Given the description of an element on the screen output the (x, y) to click on. 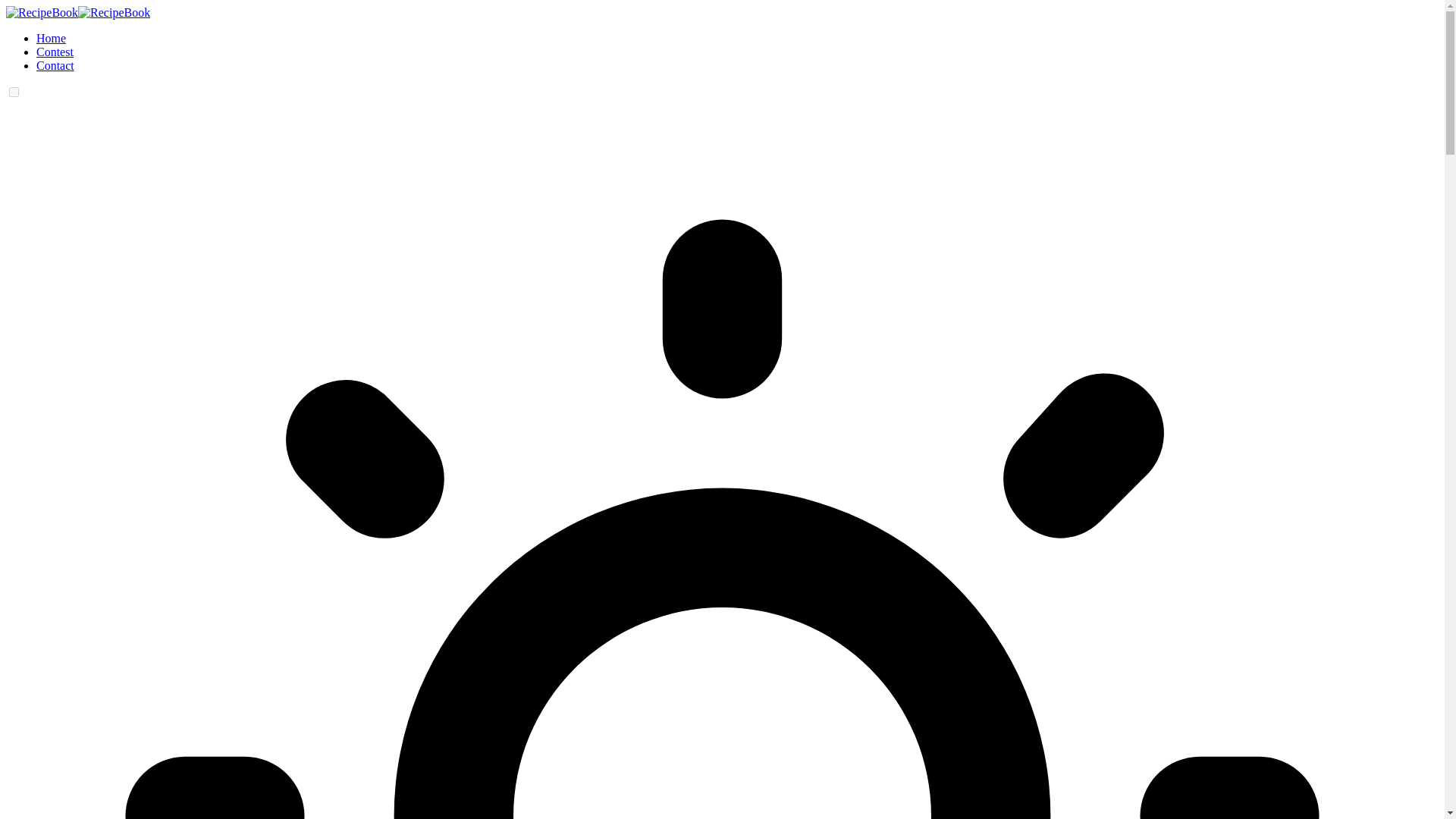
synthwave (13, 91)
Contact (55, 65)
Contest (55, 51)
Home (50, 38)
